Given the description of an element on the screen output the (x, y) to click on. 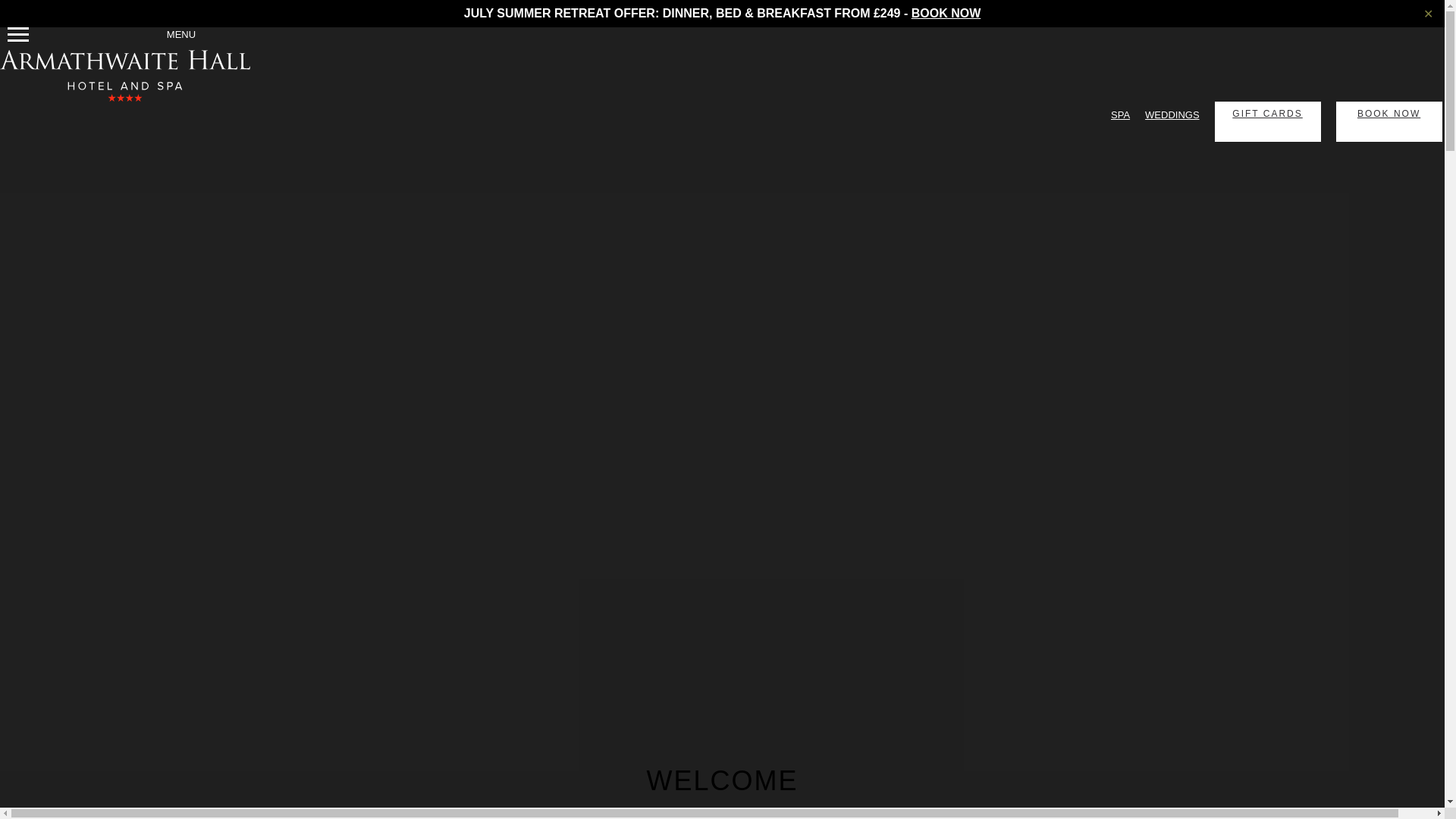
BOOK NOW (946, 12)
